Given the description of an element on the screen output the (x, y) to click on. 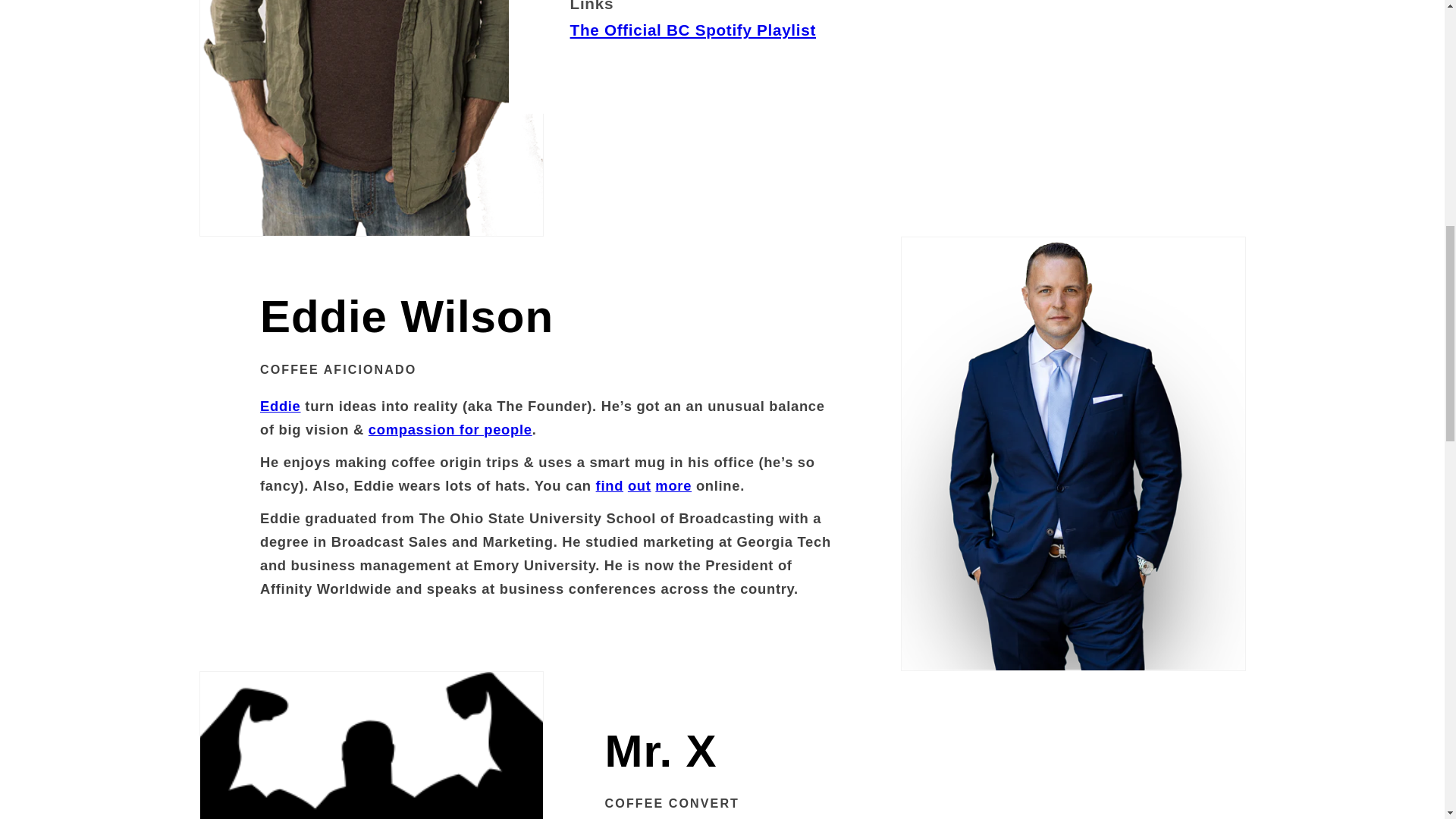
out (638, 485)
The Official BC Spotify Playlist (692, 29)
find (609, 485)
more (673, 485)
Eddie (280, 406)
compassion for people (450, 429)
